Given the description of an element on the screen output the (x, y) to click on. 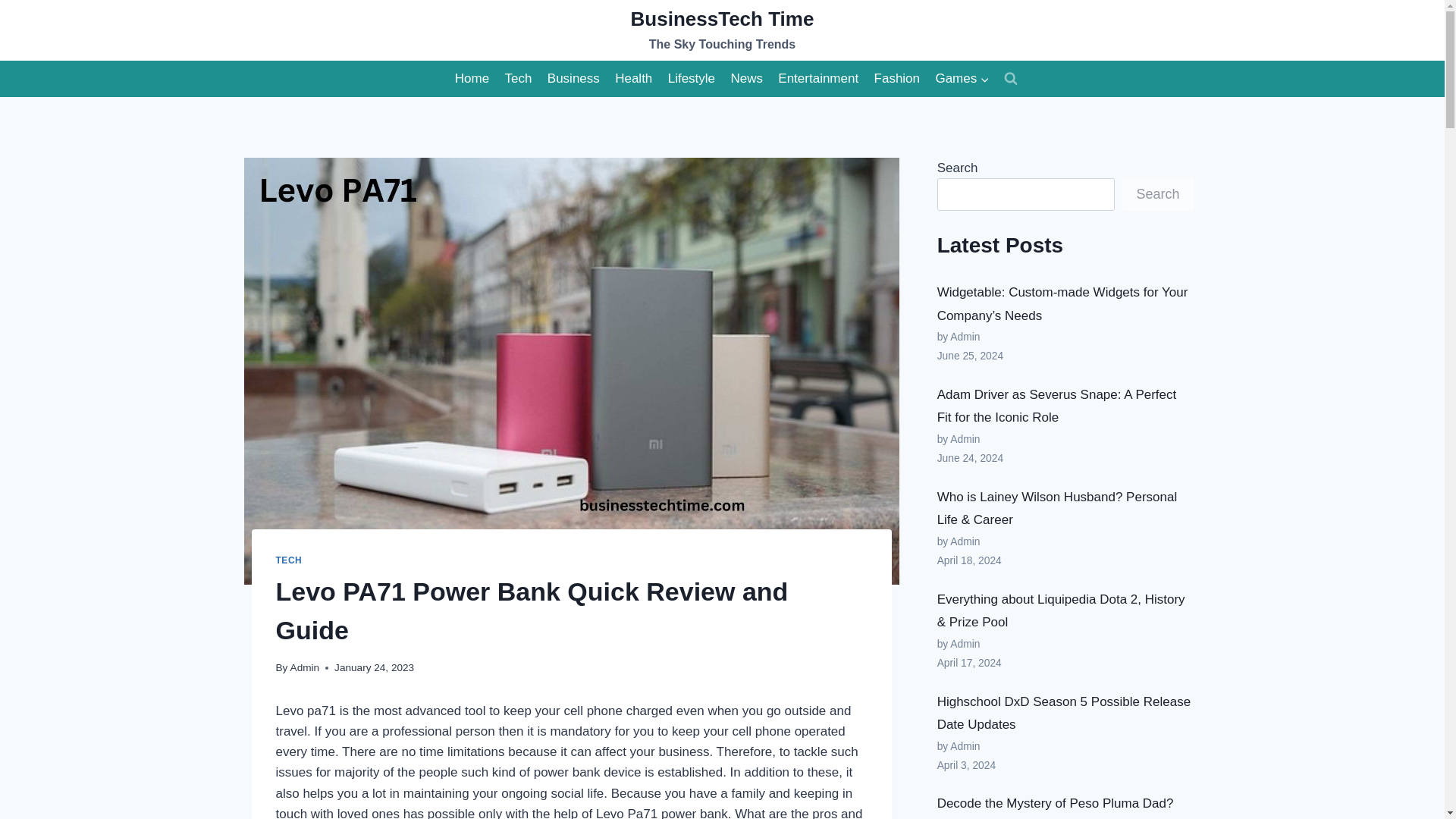
Admin (304, 667)
Home (471, 78)
TECH (289, 560)
Entertainment (818, 78)
Business (573, 78)
Health (634, 78)
Games (721, 30)
Lifestyle (962, 78)
Tech (690, 78)
